Given the description of an element on the screen output the (x, y) to click on. 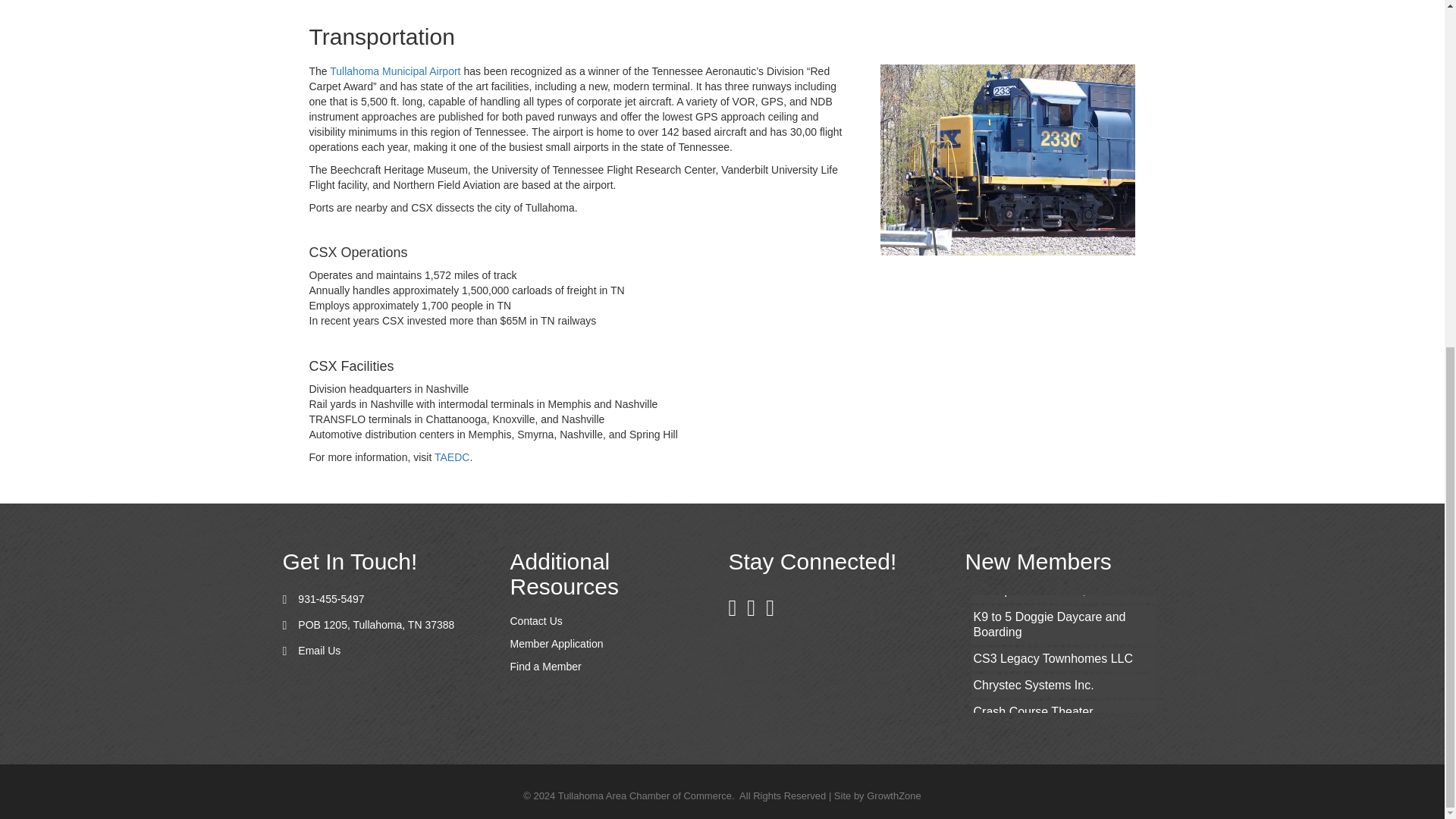
train-620x465 (1007, 159)
K9 to 5 Doggie Daycare and Boarding (1063, 625)
Crash Course Theater (1063, 712)
K9 to 5 Doggie Daycare and Boarding (1063, 625)
CS3 Legacy Townhomes LLC (1063, 658)
CS3 Legacy Townhomes LLC (1063, 658)
Crash Course Theater (1063, 712)
Metropolitan Escrow, Inc (1063, 590)
Chrystec Systems Inc. (1063, 685)
Chrystec Systems Inc. (1063, 685)
Metropolitan Escrow, Inc (1063, 590)
